Given the description of an element on the screen output the (x, y) to click on. 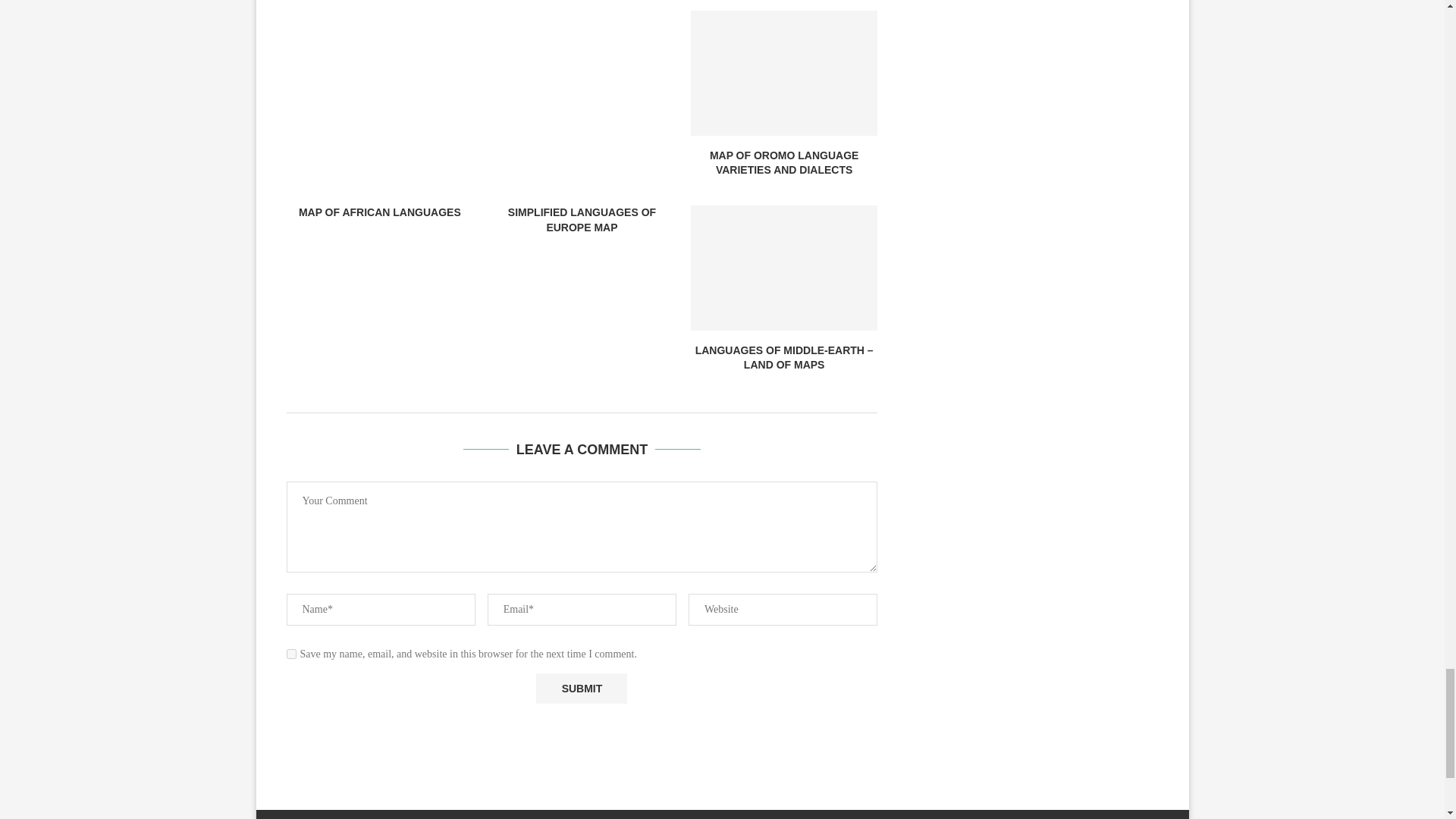
yes (291, 654)
Map Of Oromo Language Varieties And Dialects (783, 72)
Submit (581, 688)
